Given the description of an element on the screen output the (x, y) to click on. 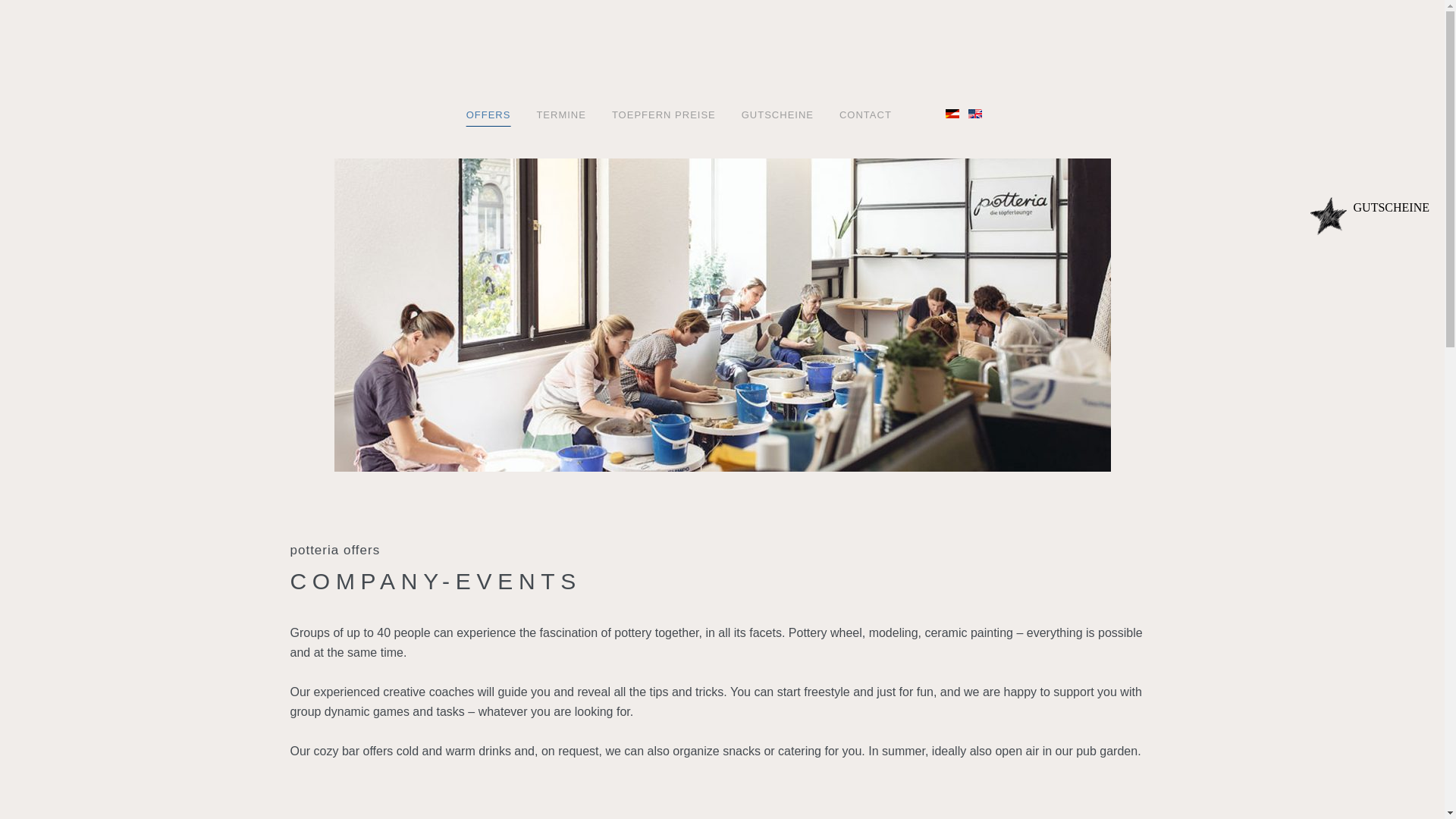
TERMINE (560, 114)
CONTACT (865, 114)
TOEPFERN PREISE (663, 114)
GUTSCHEINE (778, 114)
shop (778, 114)
angebot (488, 114)
GUTSCHEINE (1369, 208)
OFFERS (488, 114)
